Given the description of an element on the screen output the (x, y) to click on. 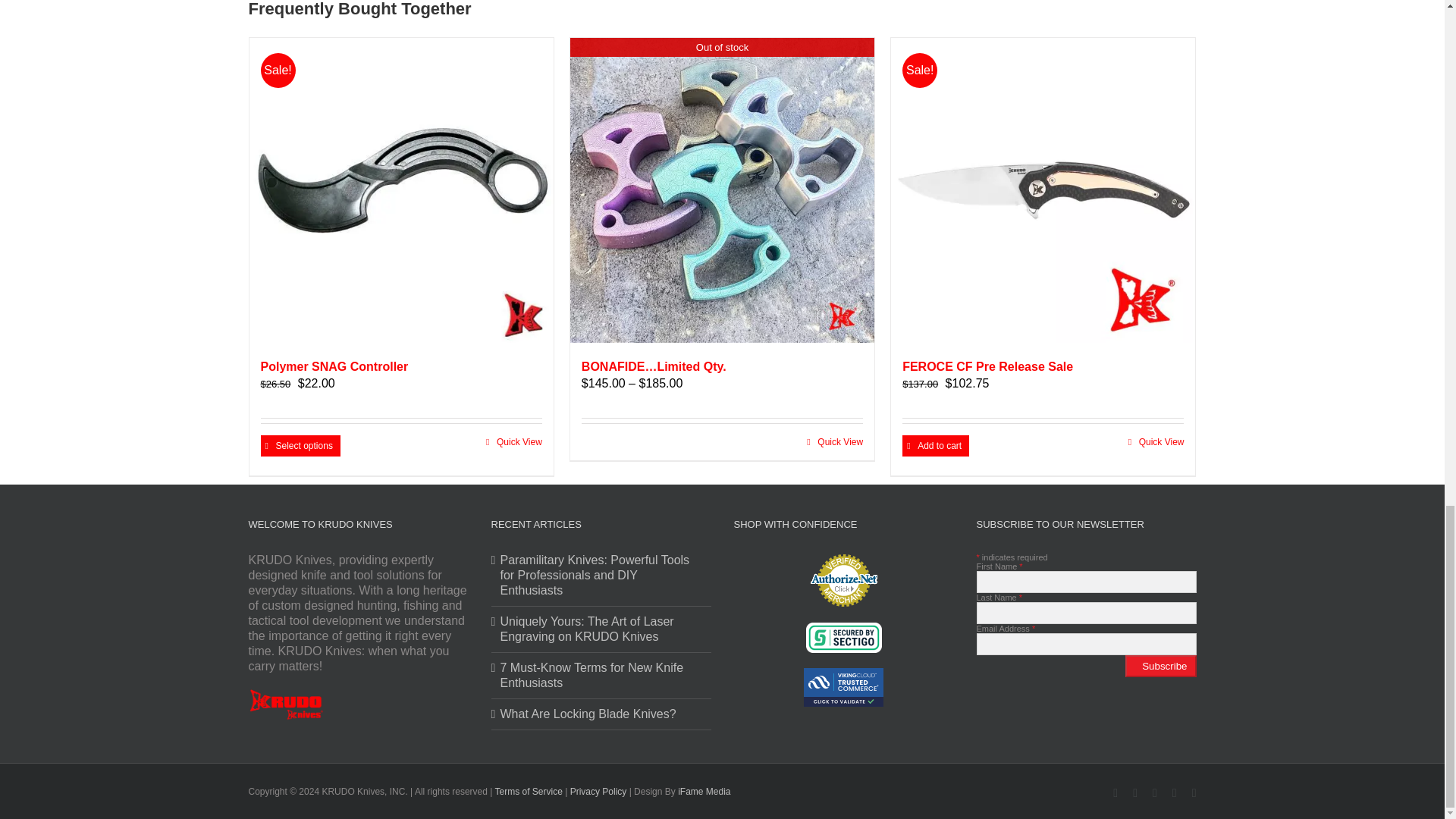
Subscribe (1160, 666)
